Given the description of an element on the screen output the (x, y) to click on. 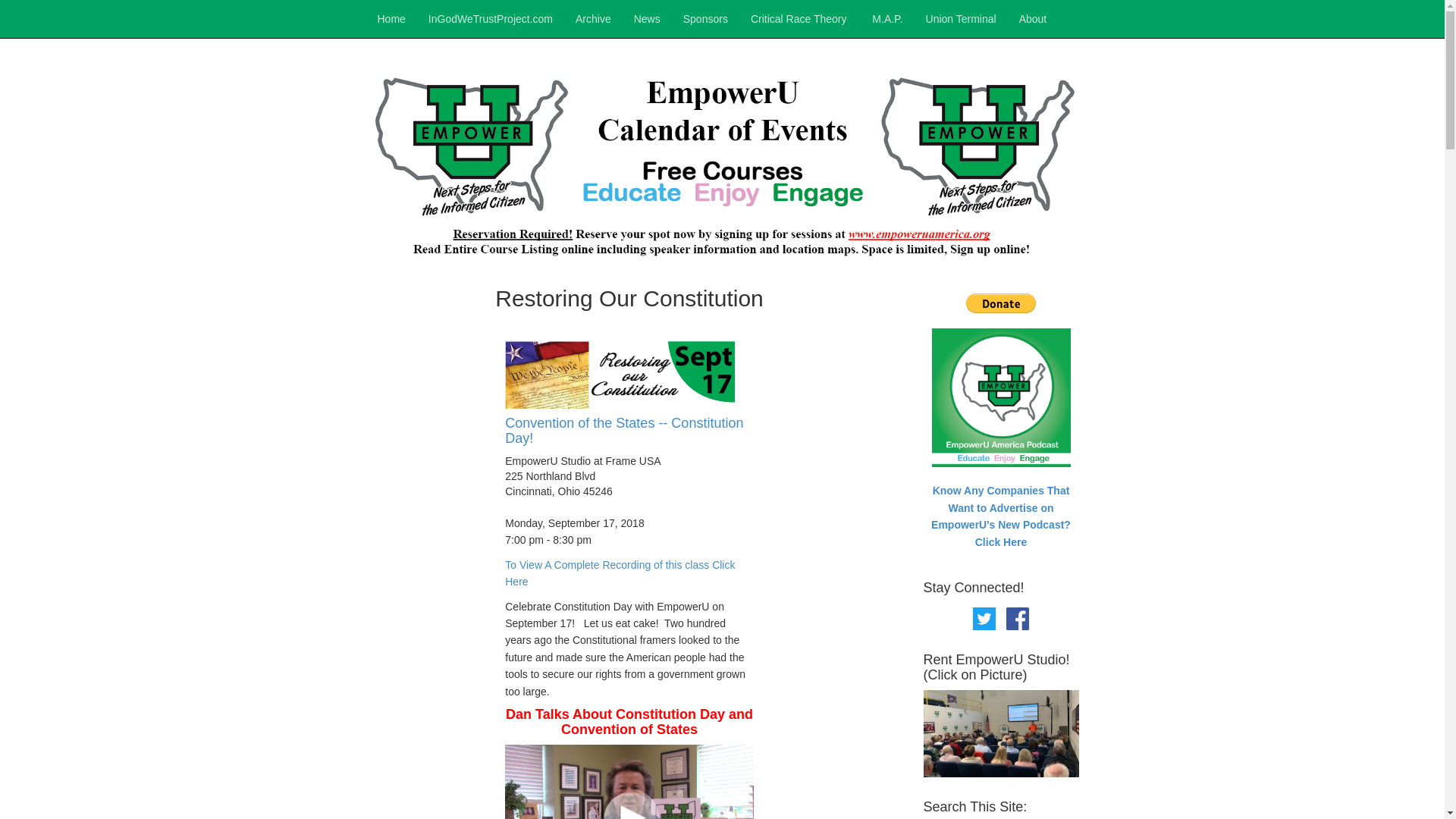
Dan Talks About Constitution Day and Convention of States (628, 721)
About (1032, 18)
About (1032, 18)
Critical Race Theory (799, 18)
InGodWeTrustProject.com (490, 18)
Class Registration (629, 393)
Convention of the States -- Constitution Day! (629, 393)
Archive (593, 18)
News (647, 18)
To View A Complete Recording of this class Click Here (620, 573)
M.A.P. (885, 18)
Union Terminal (960, 18)
Sponsors (705, 18)
9.17-01 (620, 374)
